Given the description of an element on the screen output the (x, y) to click on. 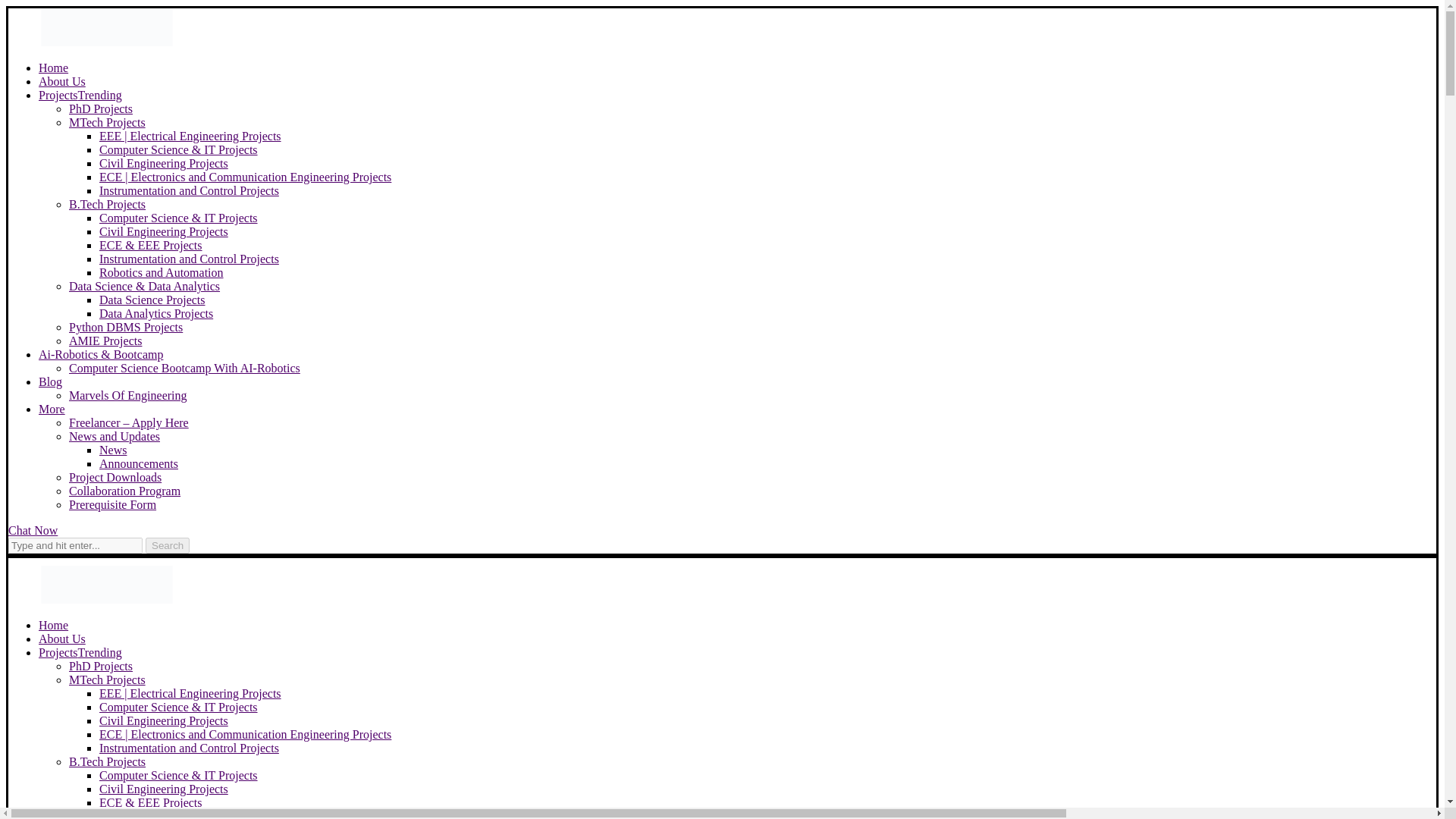
Data Analytics Projects (155, 313)
Data Science Projects (152, 299)
Blog (50, 381)
Prerequisite Form (111, 504)
Collaboration Program (124, 490)
More (52, 408)
News (112, 449)
Important announcements for engineering students (138, 463)
Computer Science Bootcamp With AI-Robotics (183, 367)
Robotics and Automation (161, 272)
Marvels Of Engineering (127, 395)
Instrumentation and Control Projects (189, 190)
Download projects, source codes and base papers (114, 477)
Chat Now (33, 530)
Python DBMS Projects (125, 327)
